Given the description of an element on the screen output the (x, y) to click on. 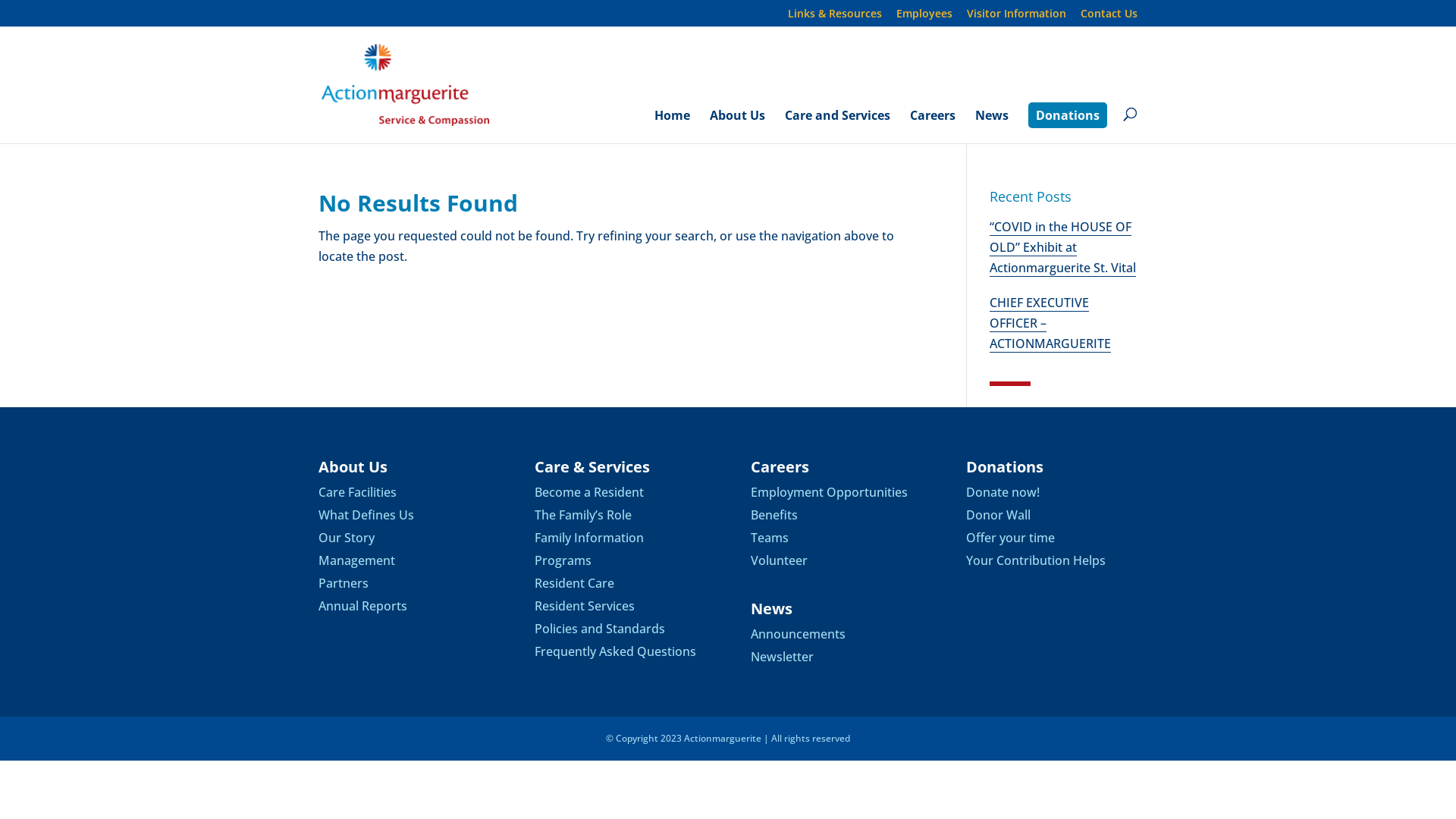
Skip to content Element type: text (0, 0)
Frequently Asked Questions Element type: text (615, 651)
News Element type: text (991, 126)
Volunteer Element type: text (778, 560)
Newsletter Element type: text (781, 656)
Policies and Standards Element type: text (599, 628)
Your Contribution Helps Element type: text (1035, 560)
Visitor Information Element type: text (1016, 16)
Employees Element type: text (924, 16)
Become a Resident Element type: text (588, 491)
Family Information Element type: text (588, 537)
Management Element type: text (356, 560)
Announcements Element type: text (797, 633)
Benefits Element type: text (773, 514)
Programs Element type: text (562, 560)
Teams Element type: text (769, 537)
What Defines Us Element type: text (366, 514)
Home Element type: text (672, 126)
Contact Us Element type: text (1108, 16)
Partners Element type: text (343, 582)
Care and Services Element type: text (837, 126)
About Us Element type: text (737, 126)
Links & Resources Element type: text (834, 16)
Resident Care Element type: text (574, 582)
Offer your time Element type: text (1010, 537)
Careers Element type: text (932, 126)
Donations Element type: text (1067, 115)
Our Story Element type: text (346, 537)
Care Facilities Element type: text (357, 491)
Annual Reports Element type: text (362, 605)
Resident Services Element type: text (584, 605)
Donor Wall Element type: text (998, 514)
Donate now! Element type: text (1002, 491)
Employment Opportunities Element type: text (828, 491)
